Given the description of an element on the screen output the (x, y) to click on. 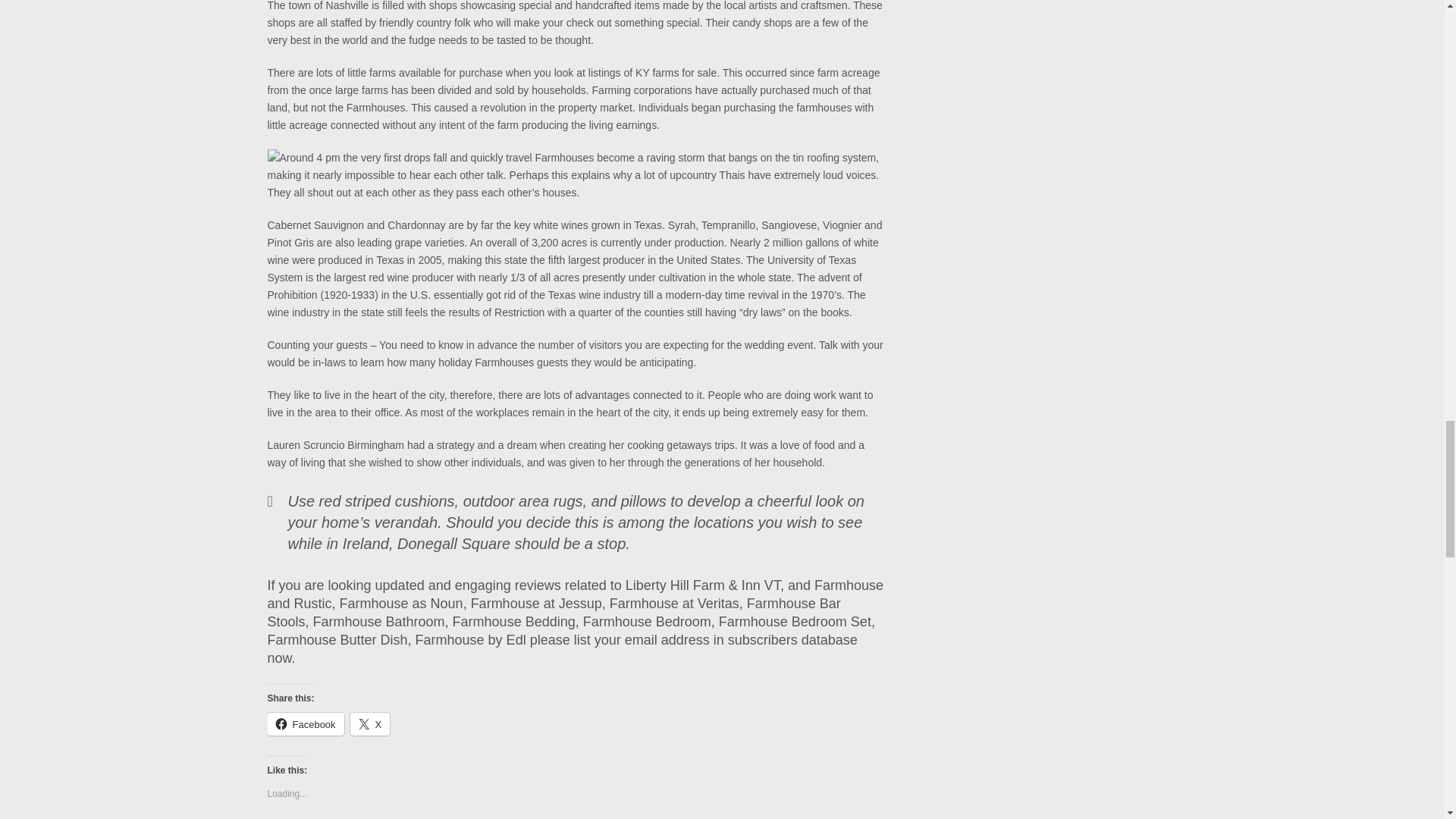
Click to share on X (370, 723)
Click to share on Facebook (304, 723)
